Given the description of an element on the screen output the (x, y) to click on. 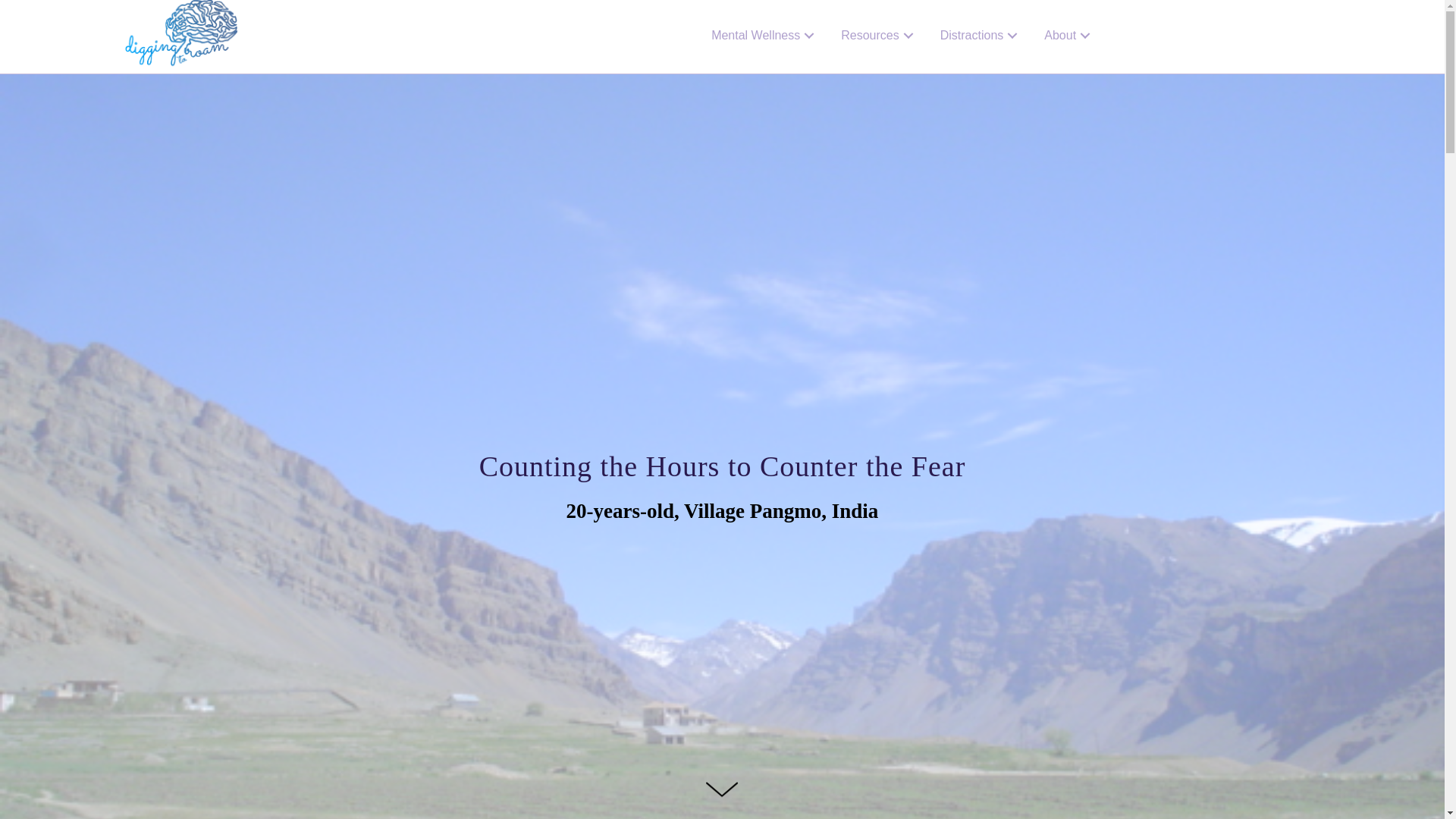
brain-digging-to-roam copy (180, 36)
Resources (878, 23)
Mental Wellness (764, 13)
About (1069, 34)
Distractions (981, 31)
